Given the description of an element on the screen output the (x, y) to click on. 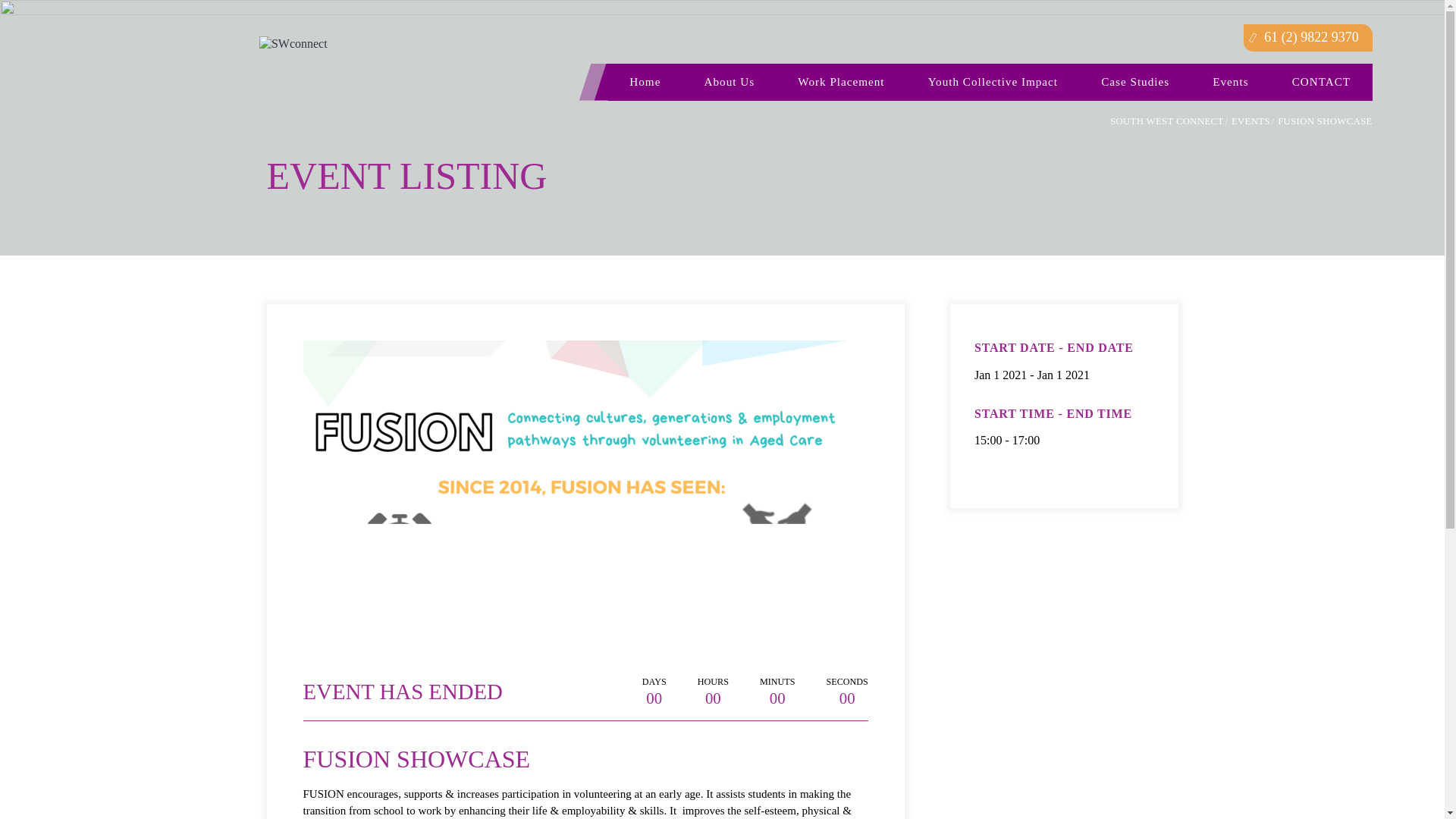
Work Placement (841, 81)
Youth Collective Impact (991, 81)
CONTACT (1320, 81)
About Us (729, 81)
Case Studies (1134, 81)
Home (644, 81)
Events (1230, 81)
